Given the description of an element on the screen output the (x, y) to click on. 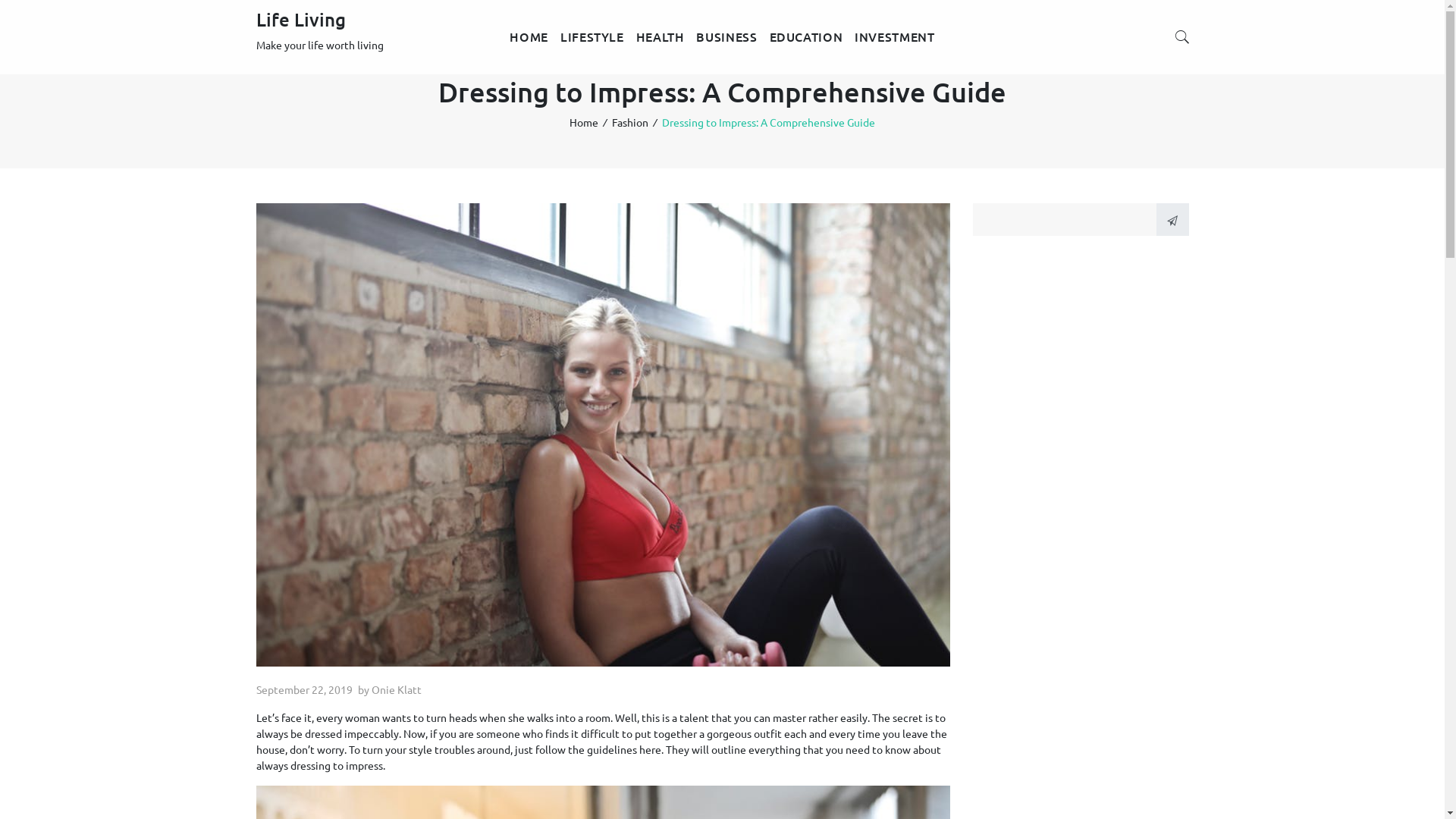
BUSINESS Element type: text (726, 37)
September 22, 2019 Element type: text (304, 689)
Fashion Element type: text (629, 121)
HEALTH Element type: text (660, 37)
EDUCATION Element type: text (806, 37)
Home Element type: text (583, 121)
LIFESTYLE Element type: text (592, 37)
Onie Klatt Element type: text (396, 689)
INVESTMENT Element type: text (894, 37)
Life Living Element type: text (300, 19)
HOME Element type: text (528, 37)
